Given the description of an element on the screen output the (x, y) to click on. 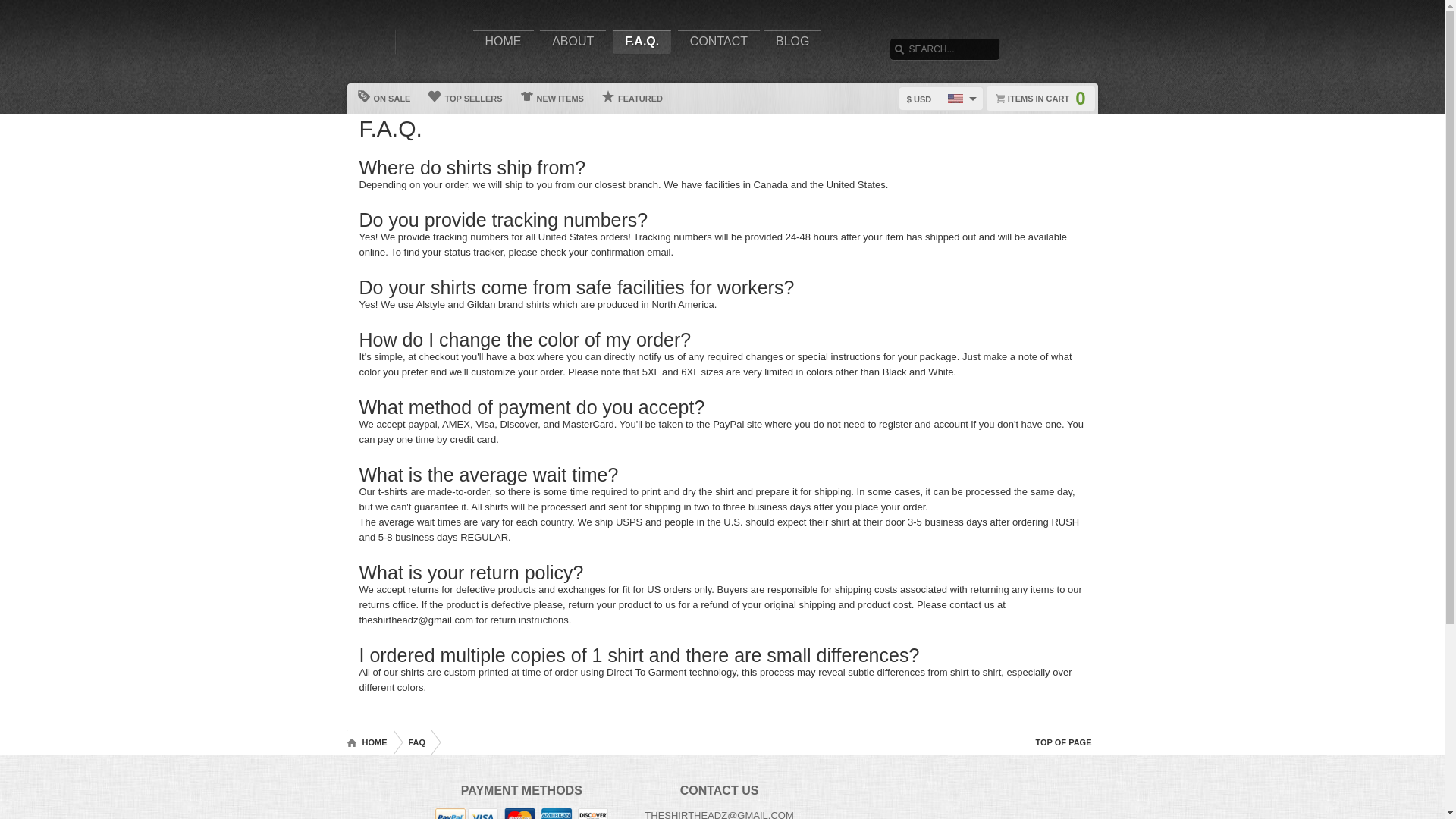
TOP SELLERS (465, 98)
ON SALE (385, 98)
FAQ (415, 742)
Search (22, 8)
BLOG (791, 41)
HOME (370, 742)
FEATURED (632, 98)
F.A.Q. (641, 41)
ABOUT (572, 41)
ITEMS IN CART0 (1040, 98)
HOME (503, 41)
TOP OF PAGE (1063, 742)
NEW ITEMS (552, 98)
CONTACT (719, 41)
